Given the description of an element on the screen output the (x, y) to click on. 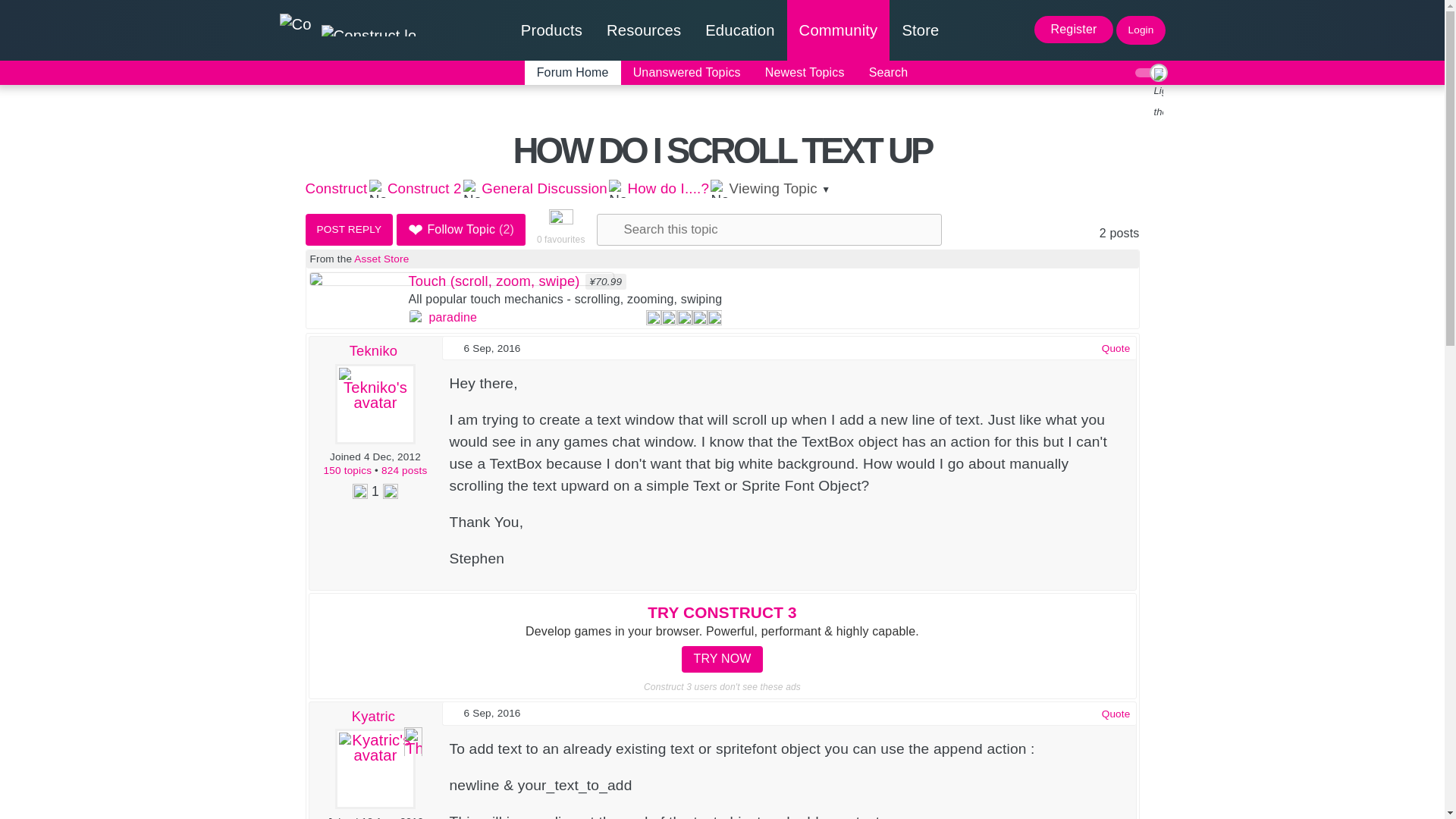
Construct homepage (346, 30)
Products (551, 30)
Education (739, 30)
Game maker (551, 30)
Resources (643, 30)
Tutorials and manual (643, 30)
